Given the description of an element on the screen output the (x, y) to click on. 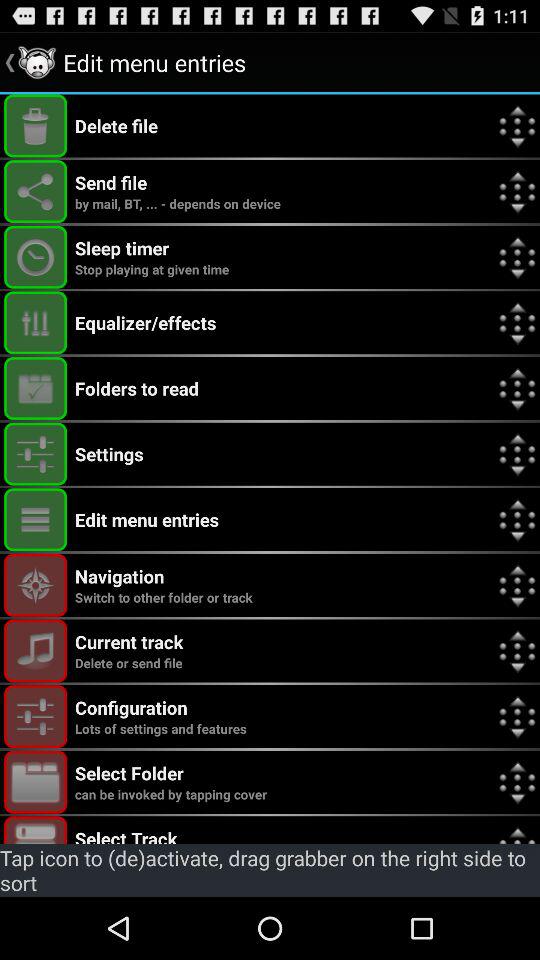
select send file (35, 191)
